Given the description of an element on the screen output the (x, y) to click on. 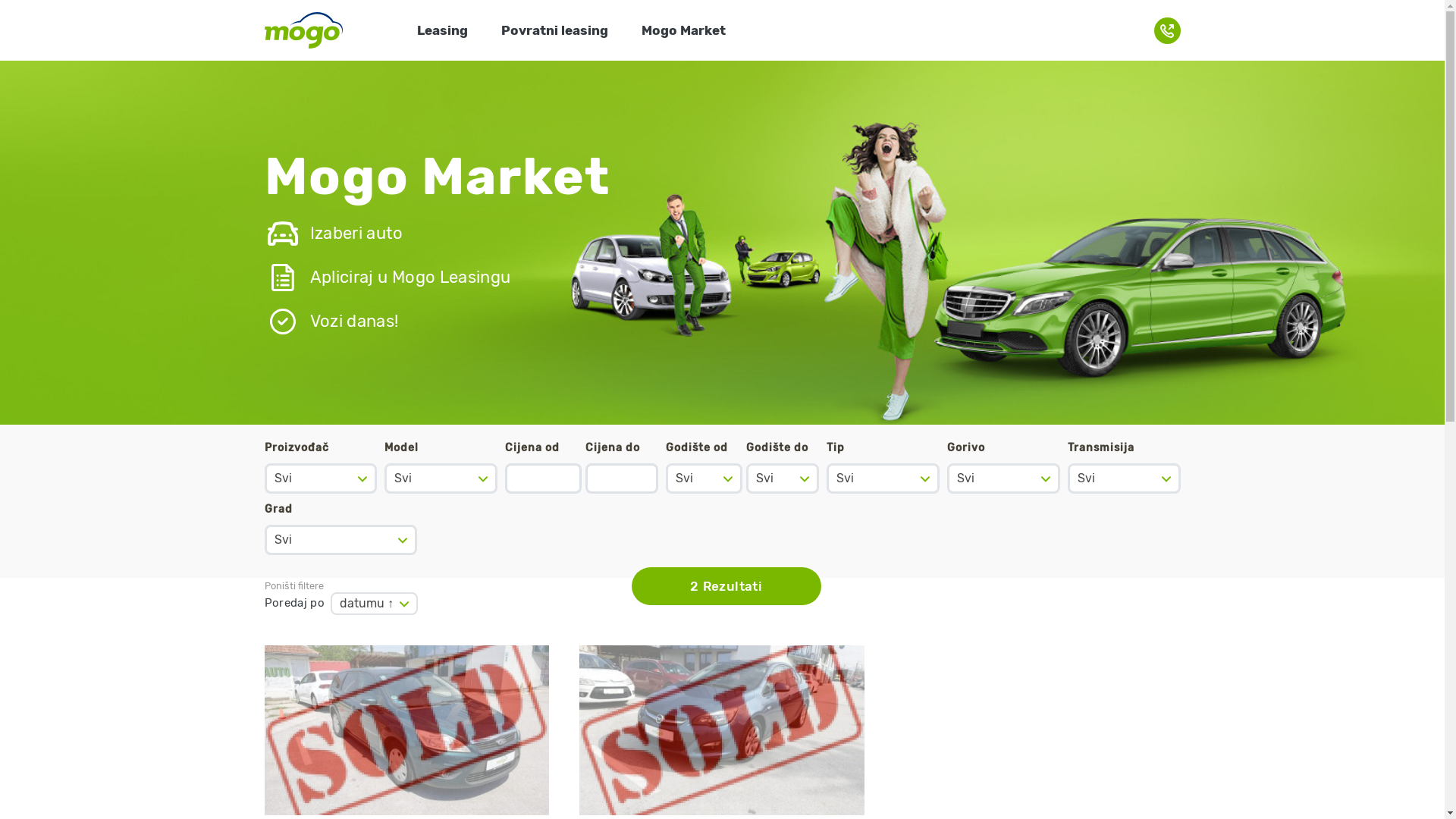
Leasing Element type: text (443, 31)
Mogo Market Element type: text (683, 31)
Povratni leasing Element type: text (556, 31)
